Given the description of an element on the screen output the (x, y) to click on. 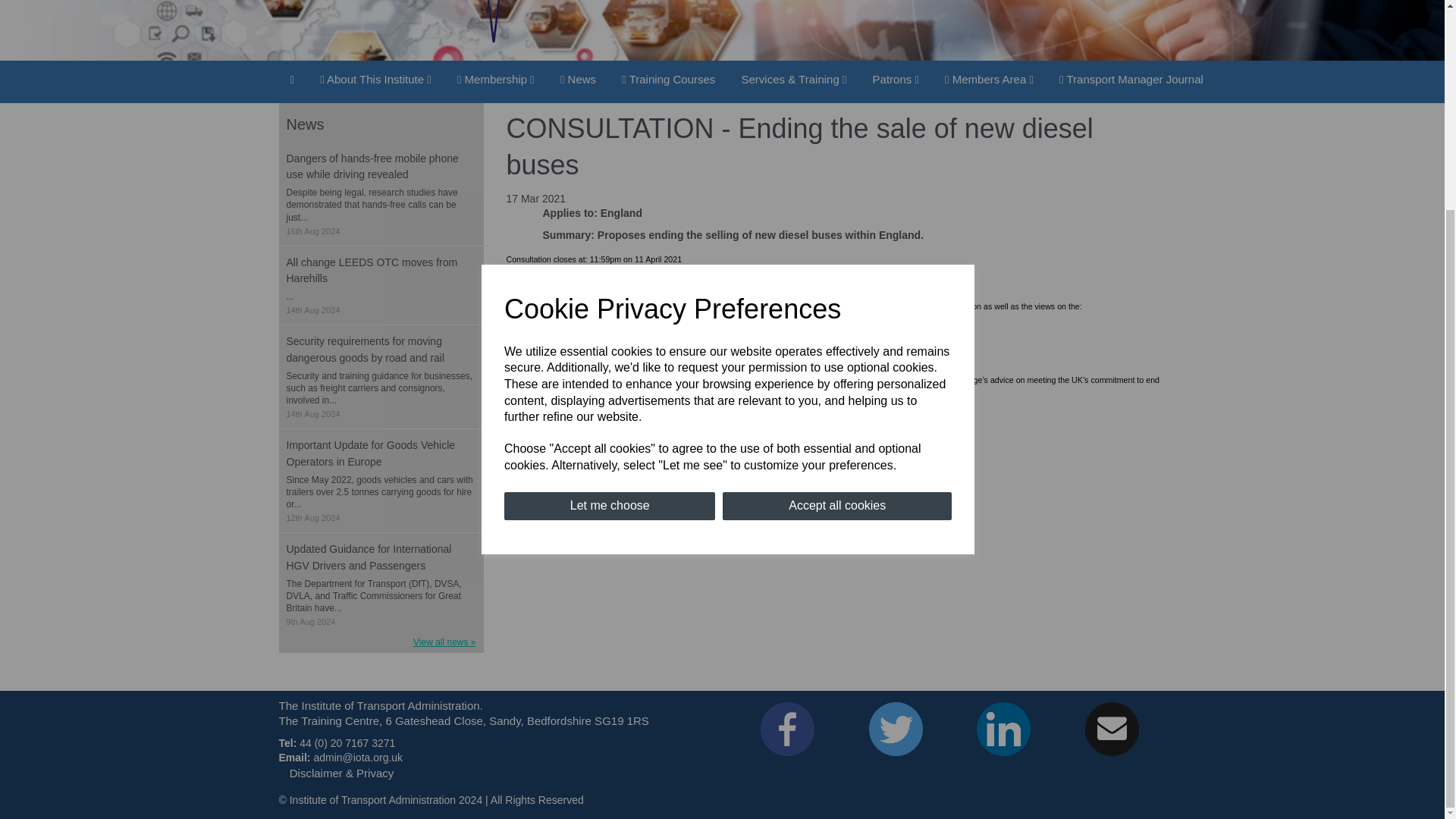
About This Institute (375, 79)
Patrons (895, 79)
News (577, 79)
Members Area (989, 79)
Membership (495, 79)
Training Courses (668, 79)
Let me choose (608, 234)
Accept all cookies (837, 234)
Transport Manager Journal (1131, 79)
